Given the description of an element on the screen output the (x, y) to click on. 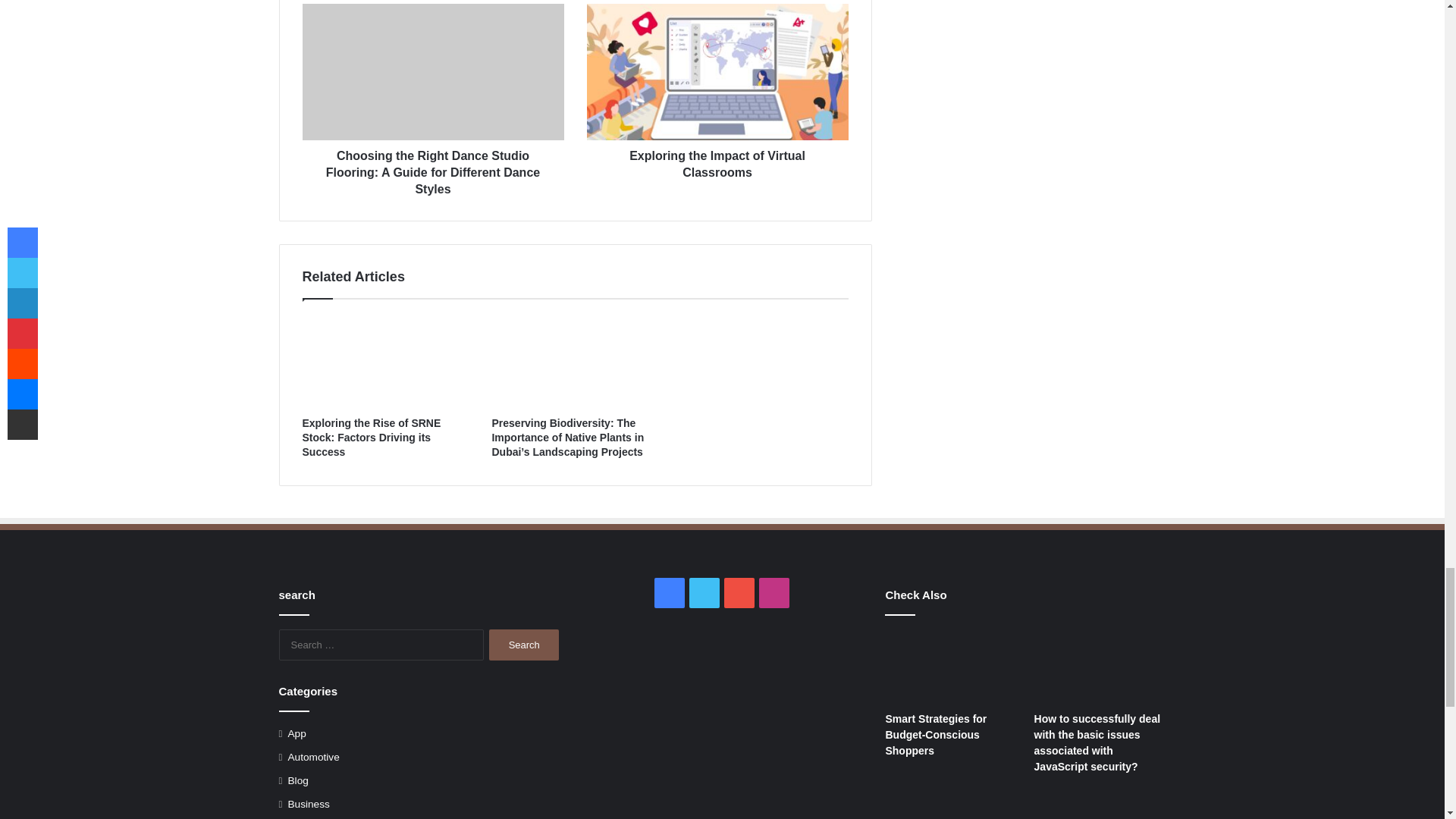
Search (524, 644)
Search (524, 644)
